Given the description of an element on the screen output the (x, y) to click on. 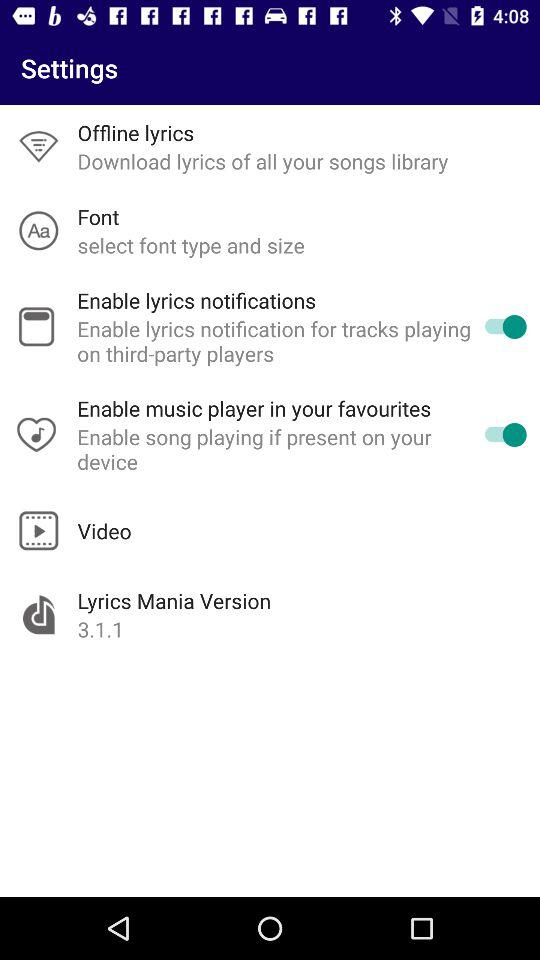
swipe until the enable music player item (254, 408)
